Given the description of an element on the screen output the (x, y) to click on. 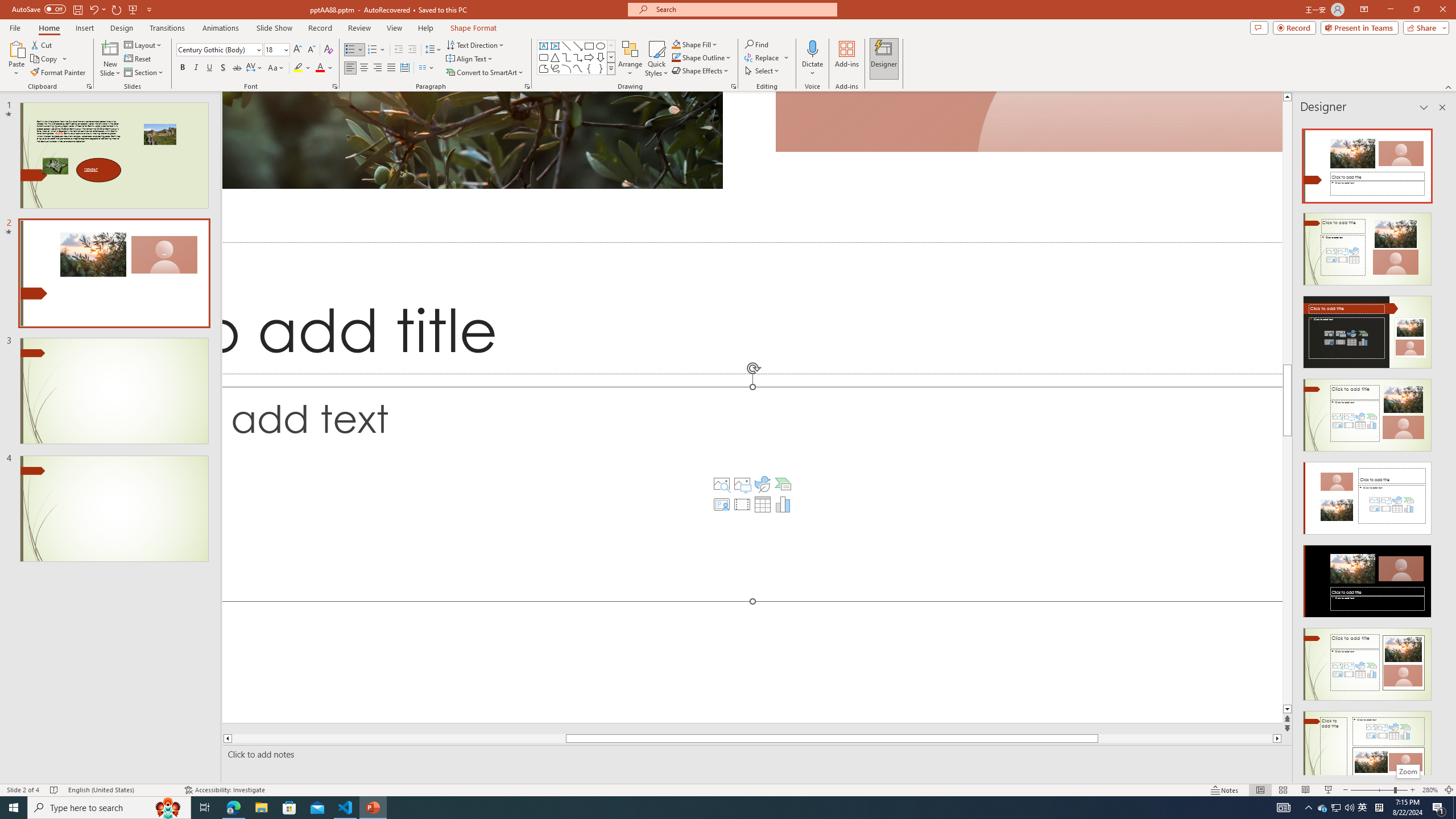
Home (48, 28)
Oval (600, 45)
Reading View (1305, 790)
Bullets (349, 49)
Reset (138, 58)
Numbering (372, 49)
New Slide (110, 58)
Section (144, 72)
Rectangle: Rounded Corners (543, 57)
From Beginning (133, 9)
Align Text (470, 58)
Class: NetUIImage (610, 68)
Class: MsoCommandBar (728, 789)
Strikethrough (237, 67)
Page up (1287, 232)
